Given the description of an element on the screen output the (x, y) to click on. 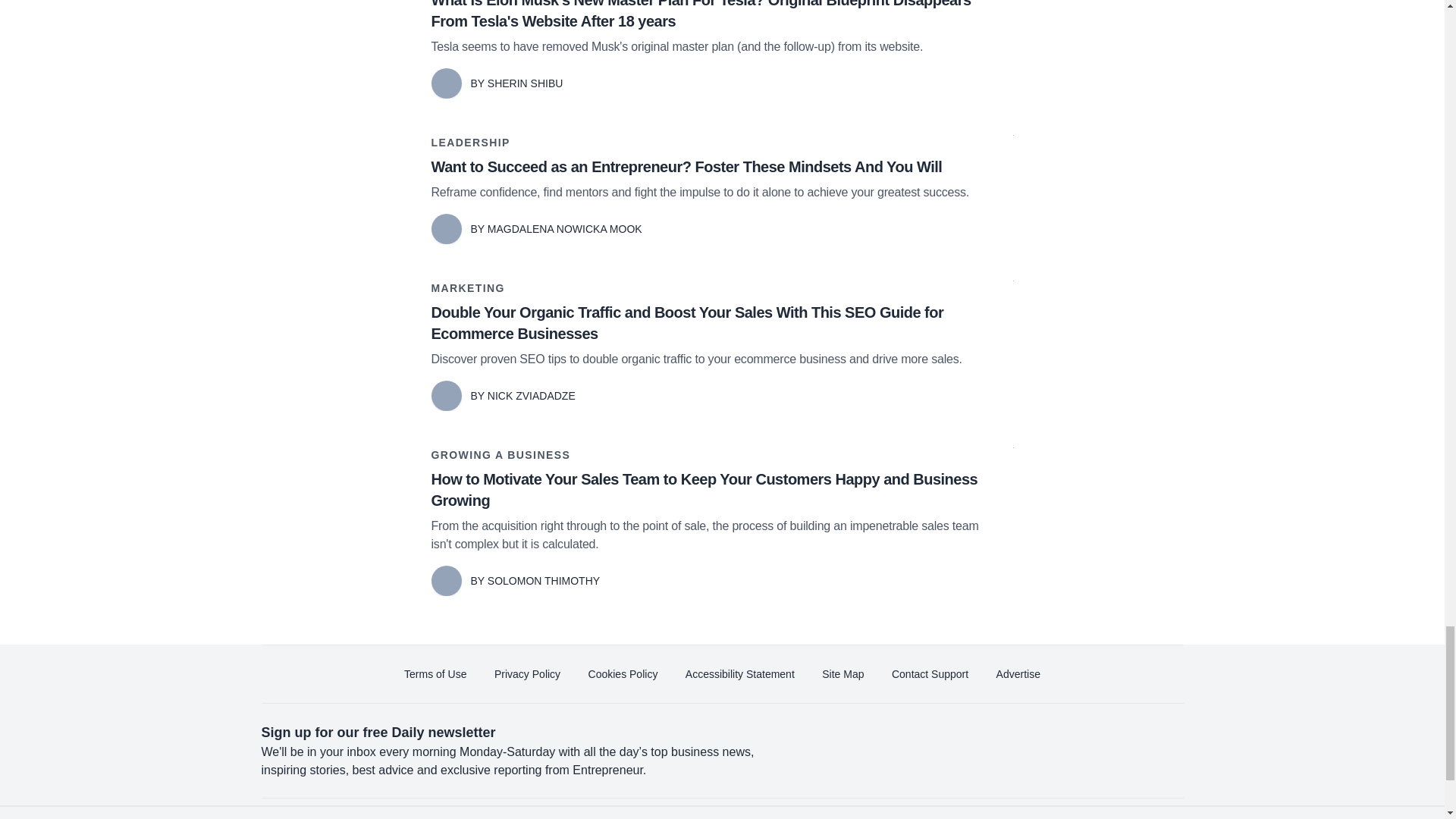
rss (1164, 817)
instagram (1121, 817)
twitter (994, 817)
facebook (952, 817)
youtube (1079, 817)
linkedin (1037, 817)
